Given the description of an element on the screen output the (x, y) to click on. 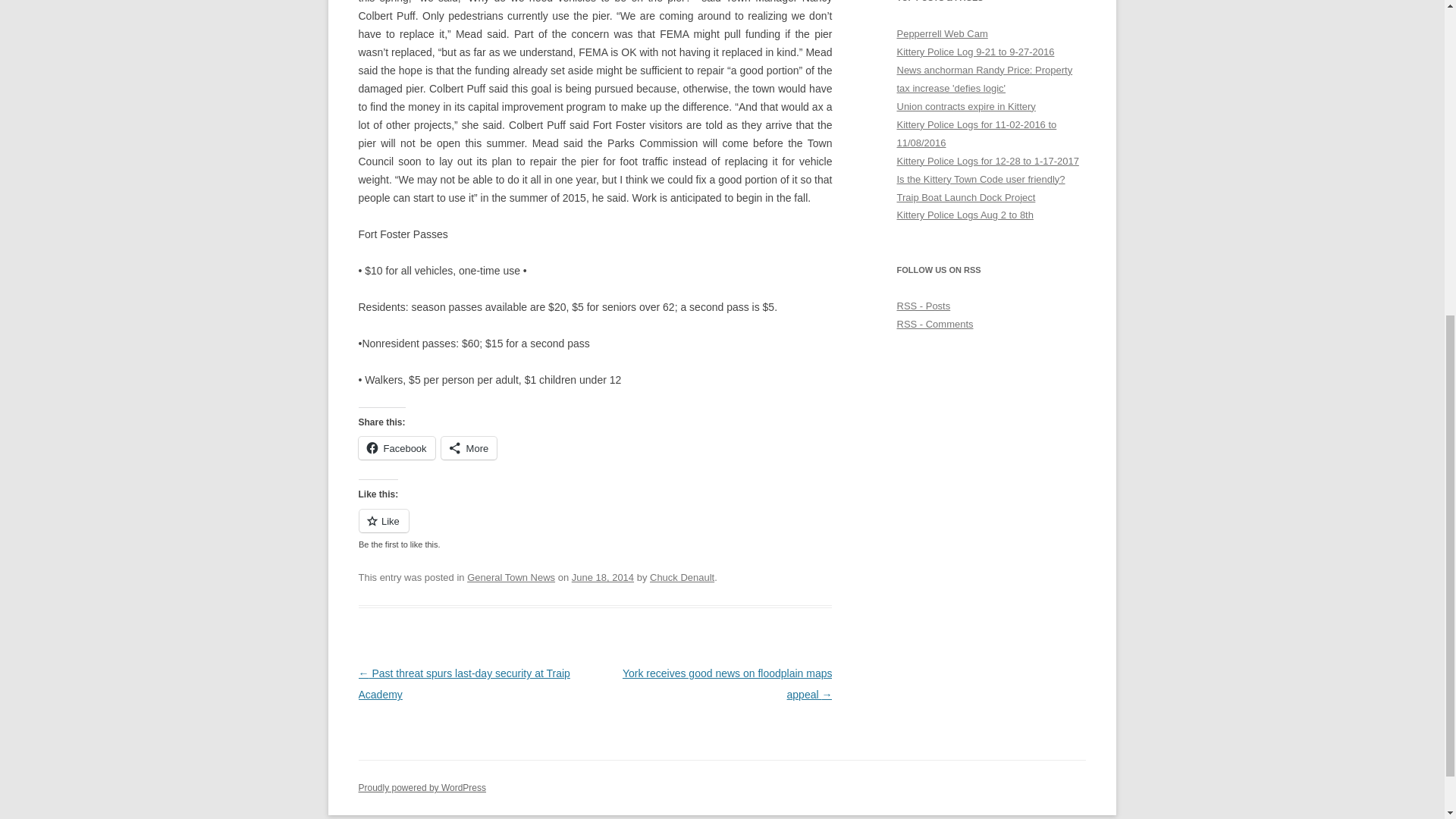
Union contracts expire in Kittery (965, 106)
Pepperrell Web Cam (941, 33)
1:30 pm (602, 577)
Subscribe to posts (923, 306)
View all posts by Chuck Denault (681, 577)
Chuck Denault (681, 577)
General Town News (510, 577)
Proudly powered by WordPress (422, 787)
Subscribe to comments (934, 324)
Semantic Personal Publishing Platform (422, 787)
RSS - Posts (923, 306)
Facebook (395, 447)
Traip Boat Launch Dock Project (965, 196)
More (469, 447)
